Given the description of an element on the screen output the (x, y) to click on. 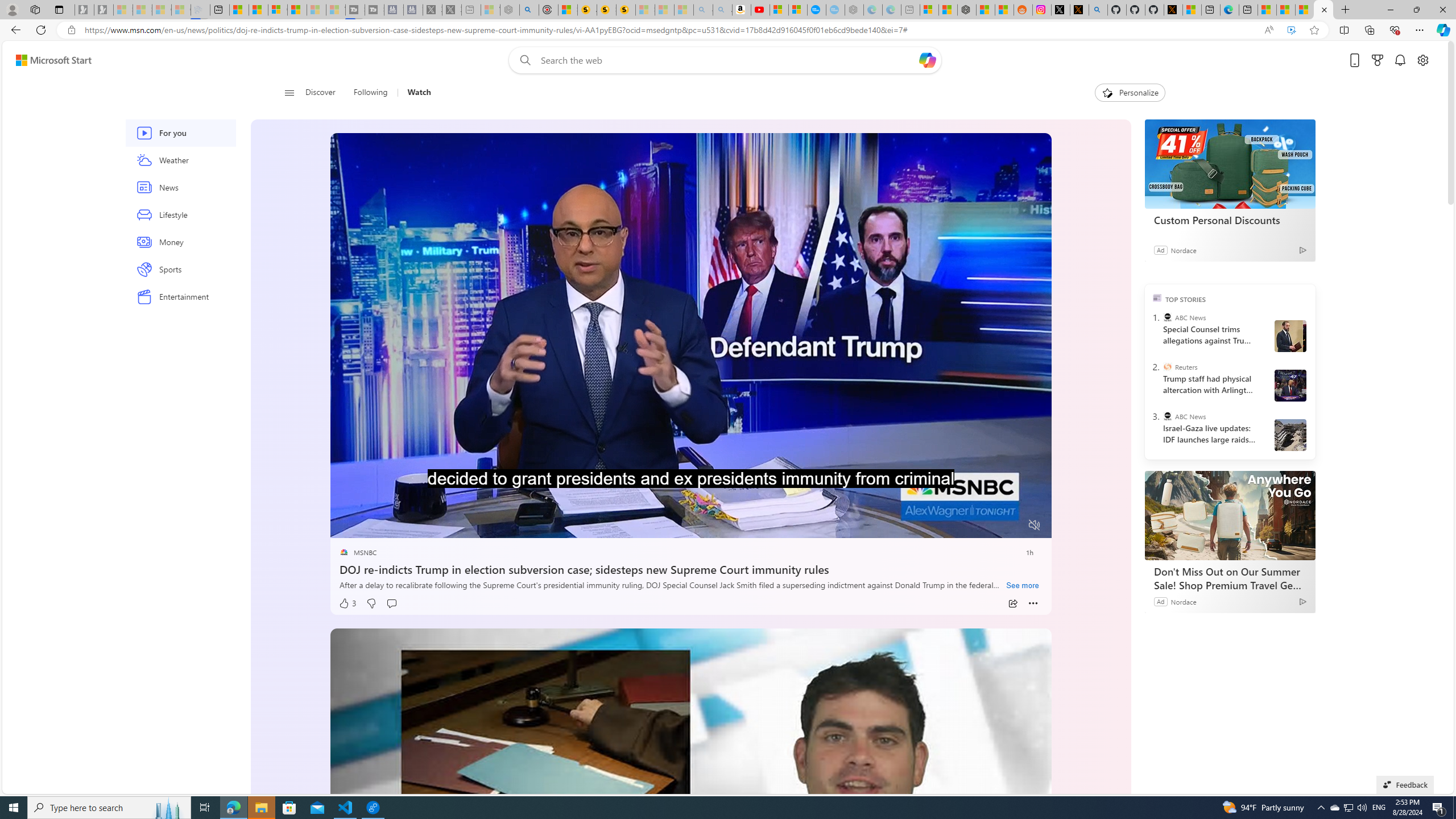
Progress Bar (690, 510)
Microsoft Start (53, 60)
Fullscreen (1013, 525)
Dislike (371, 603)
Captions (989, 525)
Read aloud this page (Ctrl+Shift+U) (1268, 29)
Open Copilot (927, 59)
Microsoft account | Microsoft Account Privacy Settings (929, 9)
Day 1: Arriving in Yemen (surreal to be here) - YouTube (759, 9)
Start the conversation (391, 603)
Refresh (40, 29)
